Given the description of an element on the screen output the (x, y) to click on. 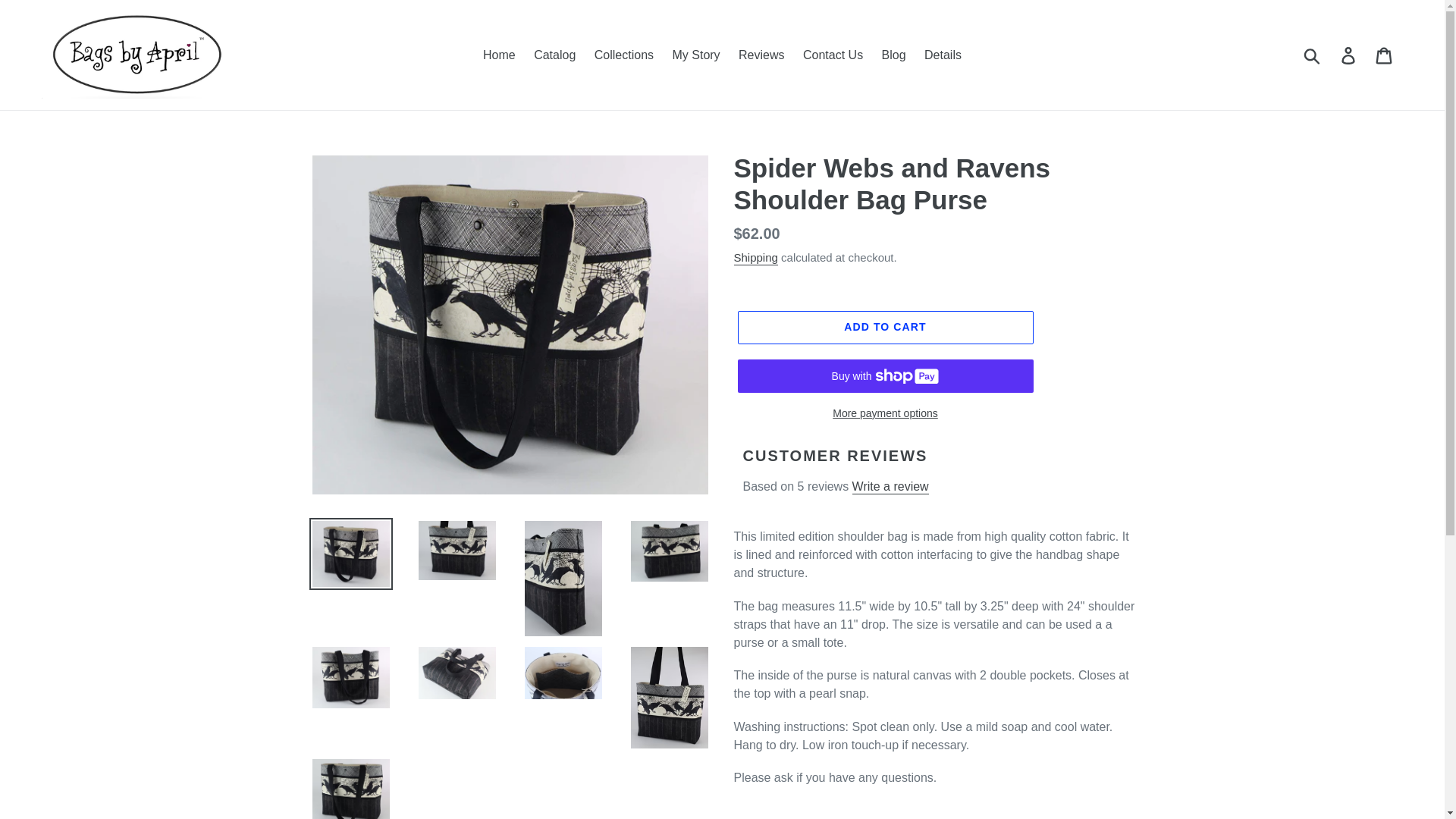
Shipping (755, 257)
Contact Us (832, 55)
Blog (894, 55)
More payment options (884, 413)
Catalog (554, 55)
Collections (623, 55)
Submit (1313, 54)
Write a review (889, 486)
My Story (694, 55)
Cart (1385, 54)
